Given the description of an element on the screen output the (x, y) to click on. 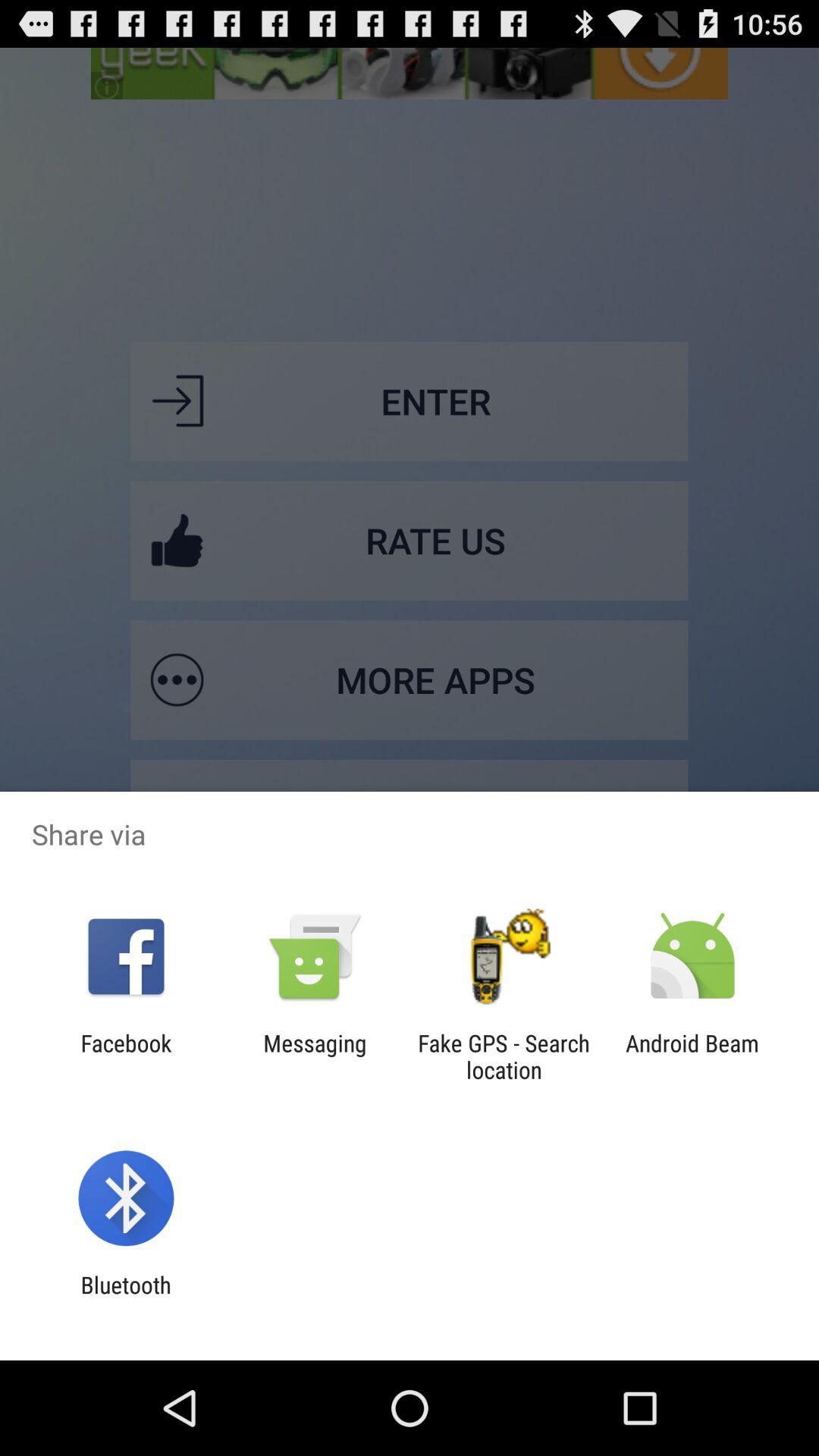
turn on the icon to the right of the facebook item (314, 1056)
